Given the description of an element on the screen output the (x, y) to click on. 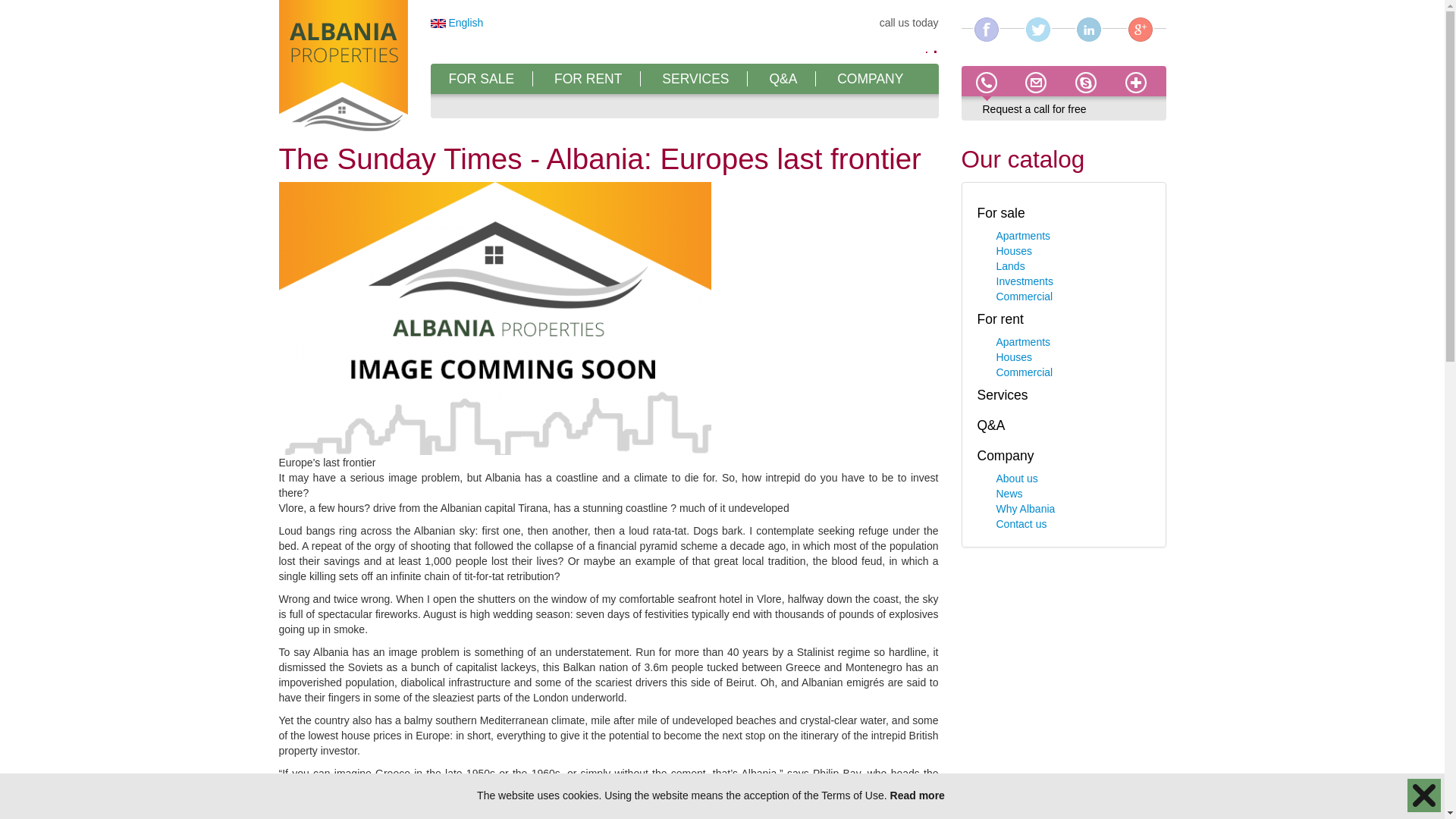
FOR RENT (587, 78)
Investments (1023, 281)
English (456, 22)
COMPANY (869, 78)
Houses (1013, 250)
Home (343, 67)
SERVICES (695, 78)
Request a call for free (1034, 109)
FOR SALE (482, 78)
For sale (1000, 212)
Lands (1010, 265)
Commercial (1023, 296)
Apartments (1023, 235)
